Given the description of an element on the screen output the (x, y) to click on. 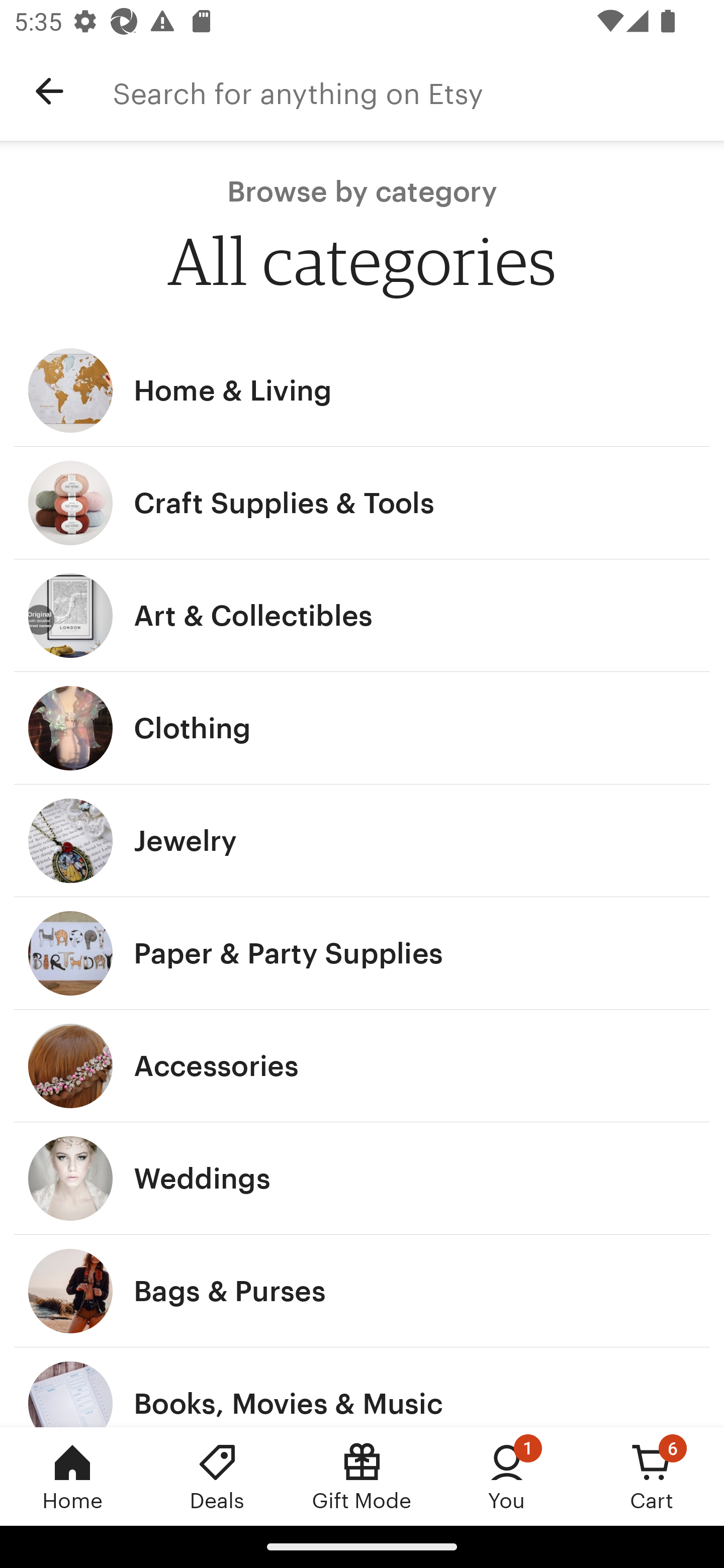
Navigate up (49, 91)
Search for anything on Etsy (418, 91)
Home & Living (361, 389)
Craft Supplies & Tools (361, 502)
Art & Collectibles (361, 615)
Clothing (361, 728)
Jewelry (361, 840)
Paper & Party Supplies (361, 952)
Accessories (361, 1065)
Weddings (361, 1178)
Bags & Purses (361, 1290)
Books, Movies & Music (361, 1386)
Deals (216, 1475)
Gift Mode (361, 1475)
You, 1 new notification You (506, 1475)
Cart, 6 new notifications Cart (651, 1475)
